Given the description of an element on the screen output the (x, y) to click on. 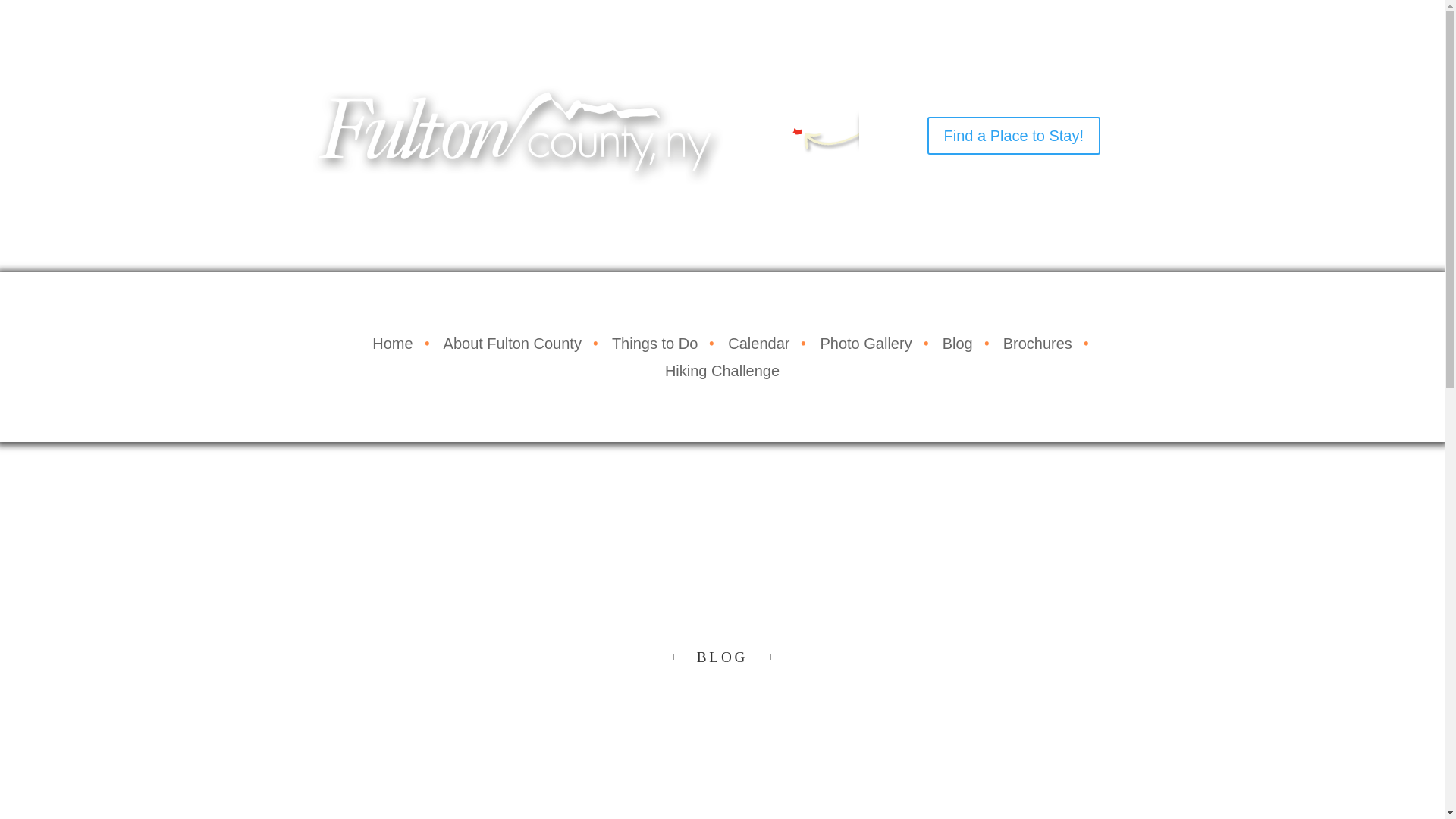
Hiking Challenge (721, 370)
Home (392, 343)
Things to Do (654, 343)
Photo Gallery (865, 343)
Blog (957, 343)
Brochures (1037, 343)
Find a Place to Stay! (1013, 135)
Calendar (759, 343)
About Fulton County (512, 343)
